Given the description of an element on the screen output the (x, y) to click on. 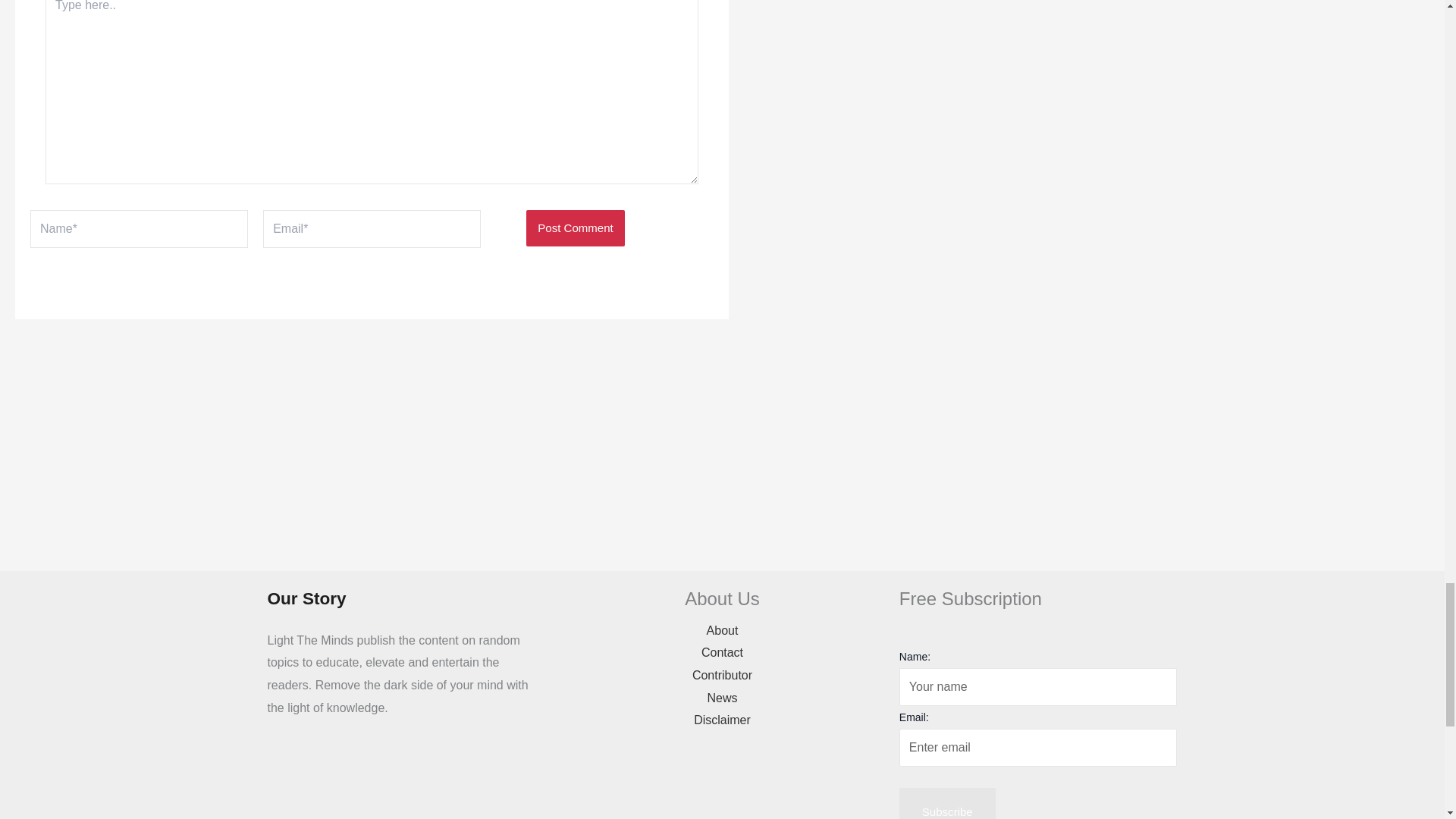
Enter email (1038, 747)
Post Comment (574, 227)
Subscribe (947, 803)
Your name (1038, 686)
